Given the description of an element on the screen output the (x, y) to click on. 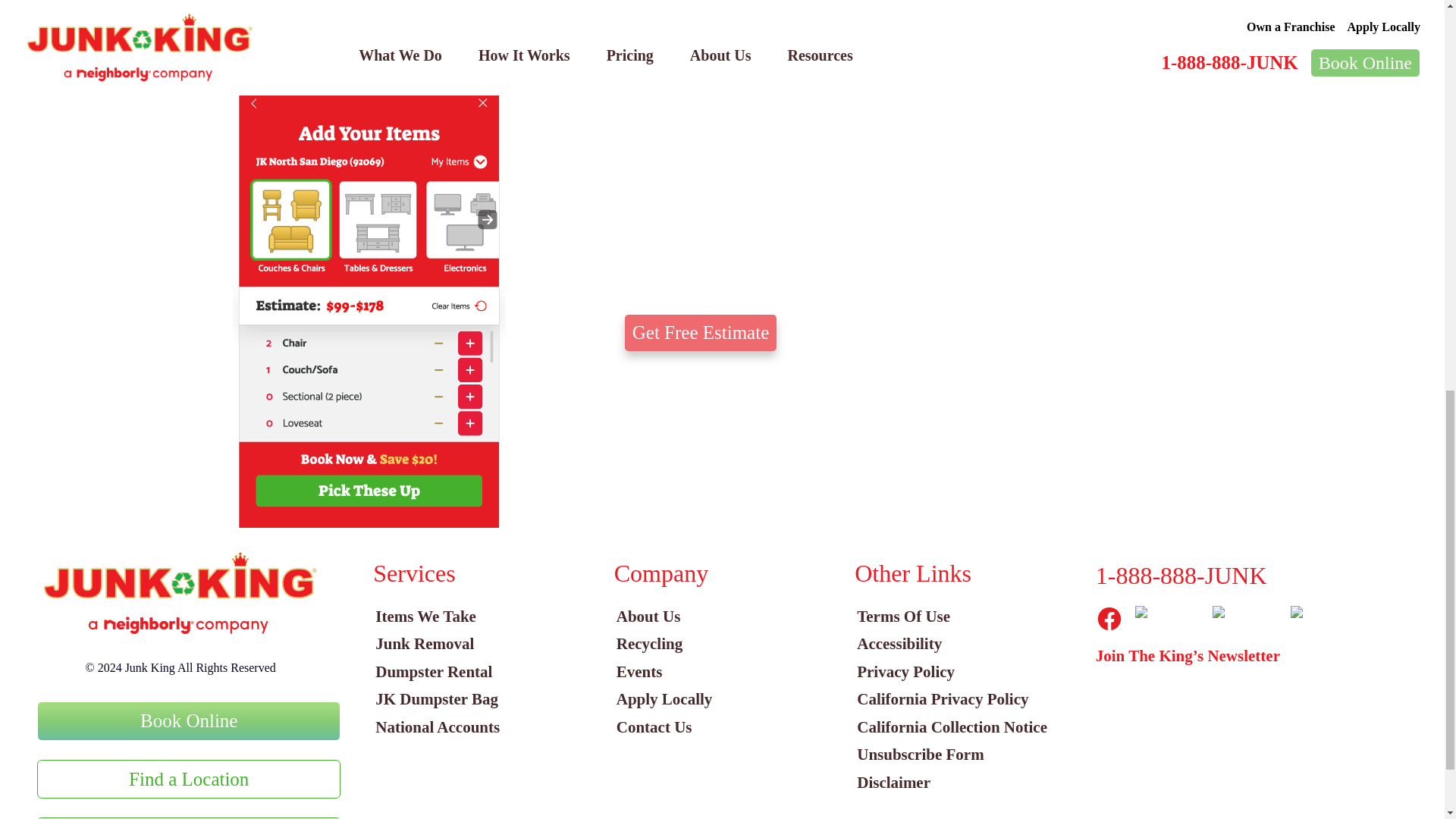
social icon (1245, 615)
logo (180, 593)
social icon (1109, 618)
social icon (1168, 615)
